Given the description of an element on the screen output the (x, y) to click on. 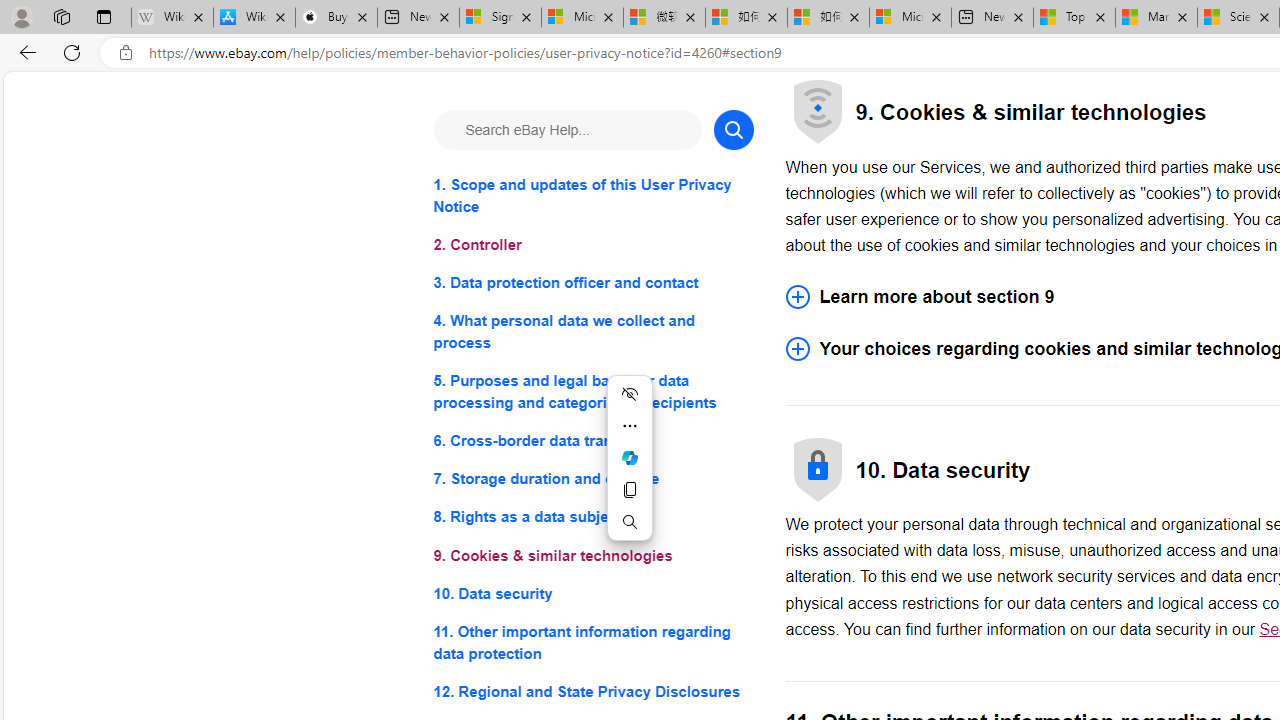
More actions (629, 425)
10. Data security (592, 592)
7. Storage duration and erasure (592, 479)
8. Rights as a data subject (592, 517)
4. What personal data we collect and process (592, 332)
Mini menu on text selection (629, 470)
1. Scope and updates of this User Privacy Notice (592, 196)
